Given the description of an element on the screen output the (x, y) to click on. 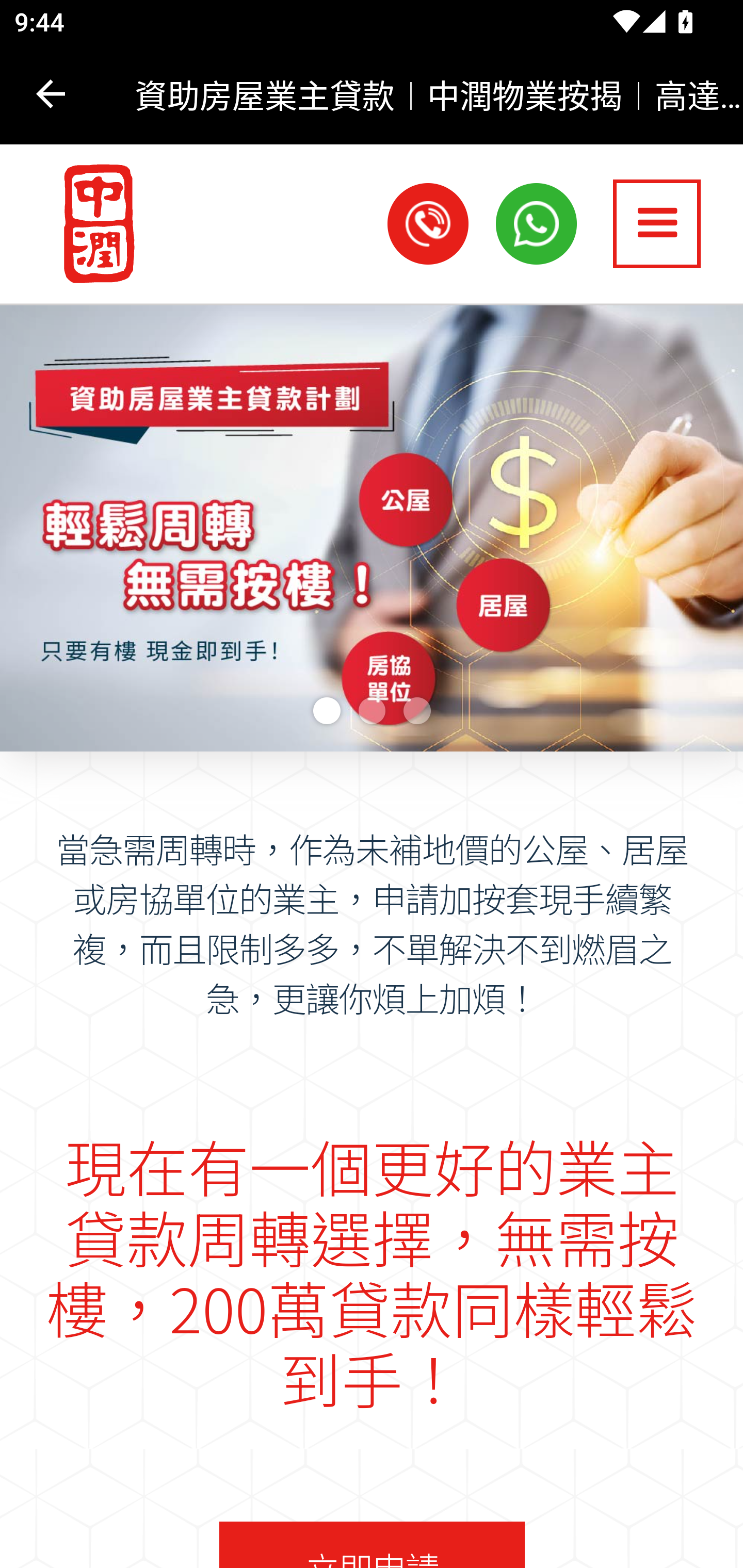
Navigate up (50, 93)
home 中潤物業按揭有限公司 (90, 224)
menu (657, 223)
電話 (427, 222)
whatsapp (536, 222)
輕鬆周轉，無需按樓！ (371, 527)
Show slide 1 of 3 (326, 710)
Show slide 2 of 3 (371, 710)
Show slide 3 of 3 (416, 710)
立即申請 (371, 1543)
